Given the description of an element on the screen output the (x, y) to click on. 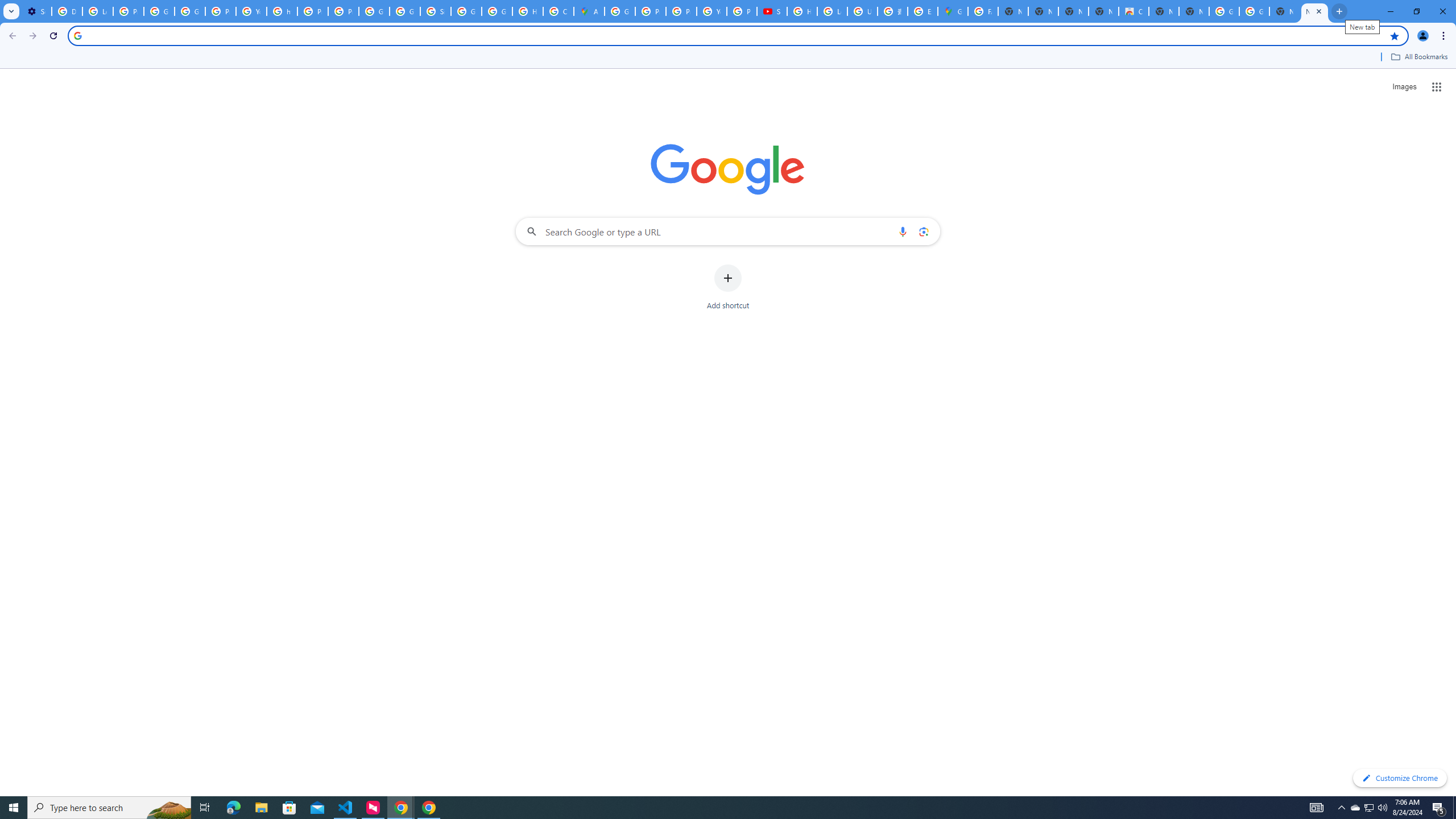
Chrome Web Store (1133, 11)
